Given the description of an element on the screen output the (x, y) to click on. 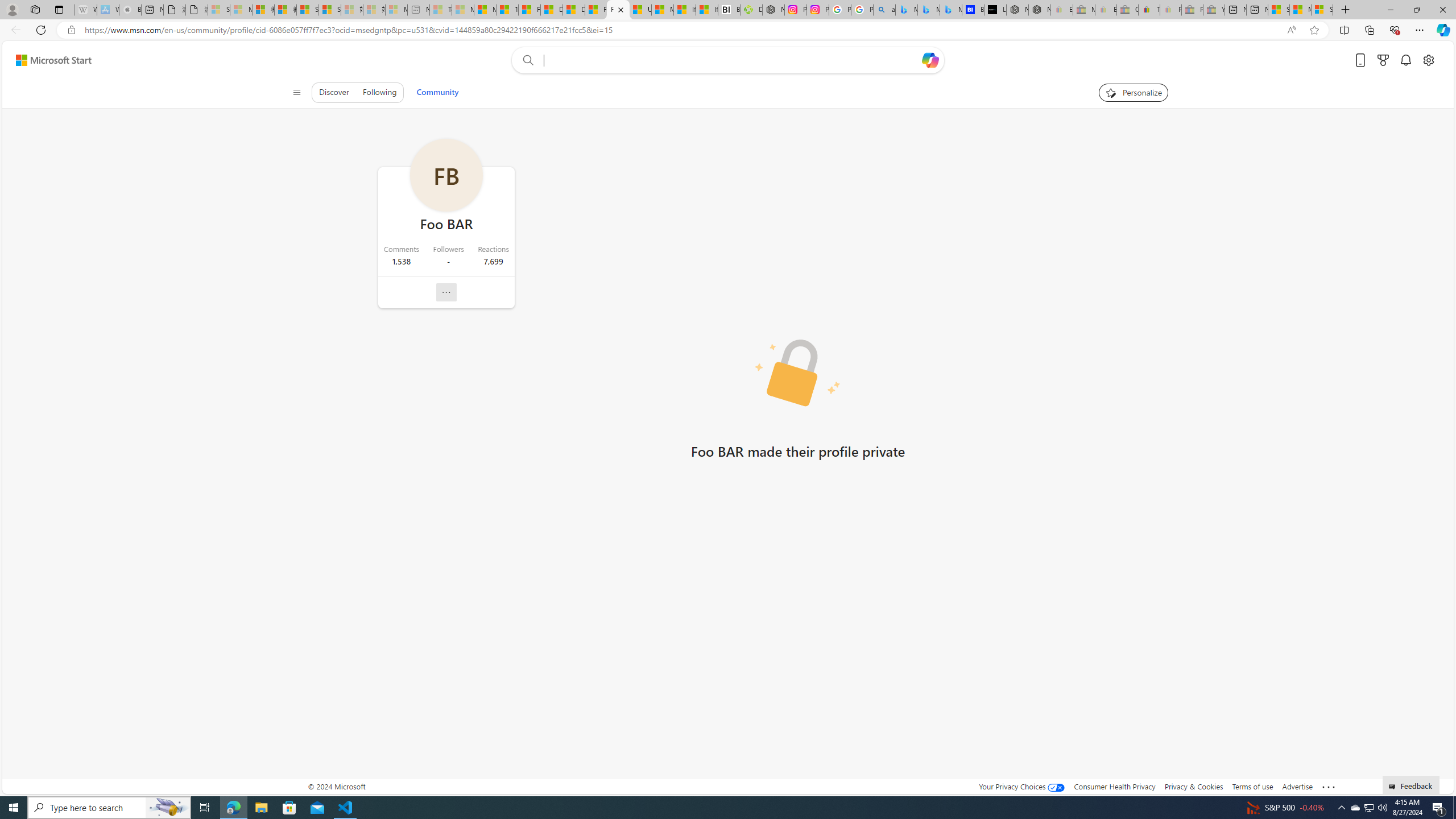
Microsoft account | Account Checkup - Sleeping (396, 9)
Foo BAR | Trusted Community Engagement and Contributions (618, 9)
Food and Drink - MSN (529, 9)
Sign in to your Microsoft account (1322, 9)
Top Stories - MSN - Sleeping (441, 9)
Microsoft Bing Travel - Shangri-La Hotel Bangkok (950, 9)
Private profile picture (797, 373)
